Given the description of an element on the screen output the (x, y) to click on. 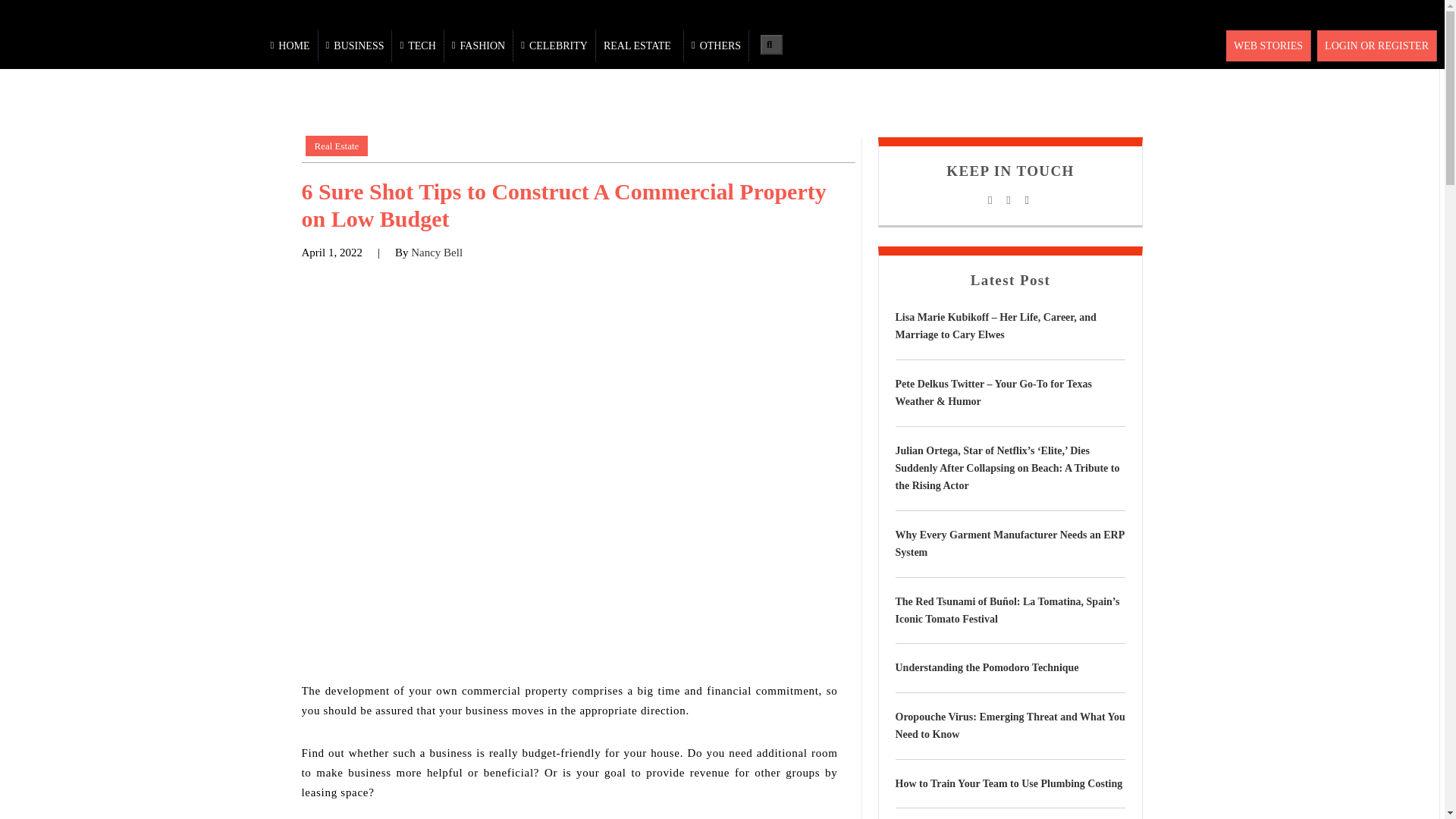
September 13, 2017 (331, 251)
REAL ESTATE (639, 45)
Posts by Nancy Bell (436, 251)
BUSINESS (355, 45)
FASHION (478, 45)
HOME (290, 45)
TECH (417, 45)
OTHERS (716, 45)
CELEBRITY (554, 45)
